Given the description of an element on the screen output the (x, y) to click on. 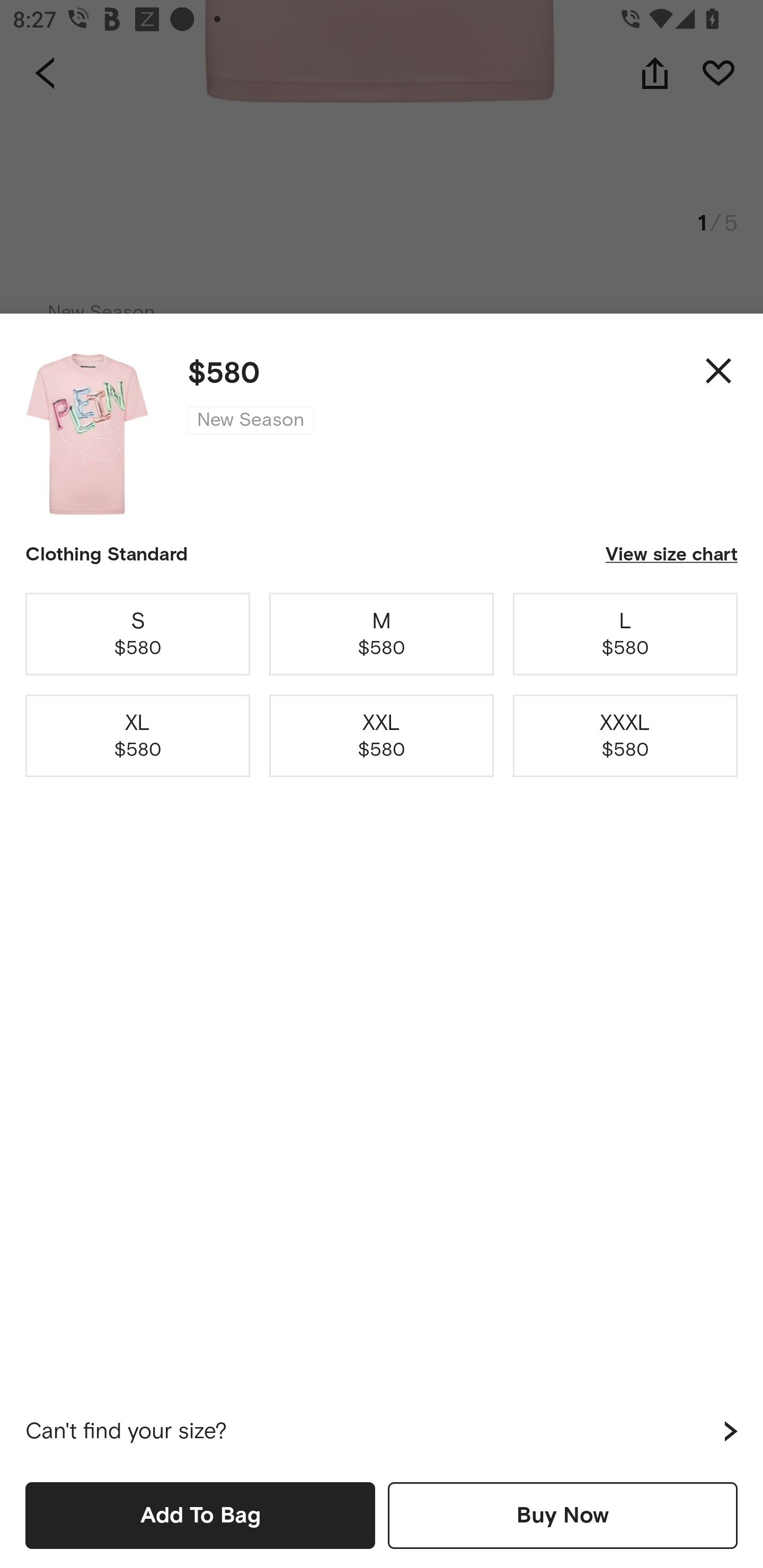
S $580 (137, 633)
M $580 (381, 633)
L $580 (624, 633)
XL $580 (137, 735)
XXL $580 (381, 735)
XXXL $580 (624, 735)
Can't find your size? (381, 1431)
Add To Bag (200, 1515)
Buy Now (562, 1515)
